Given the description of an element on the screen output the (x, y) to click on. 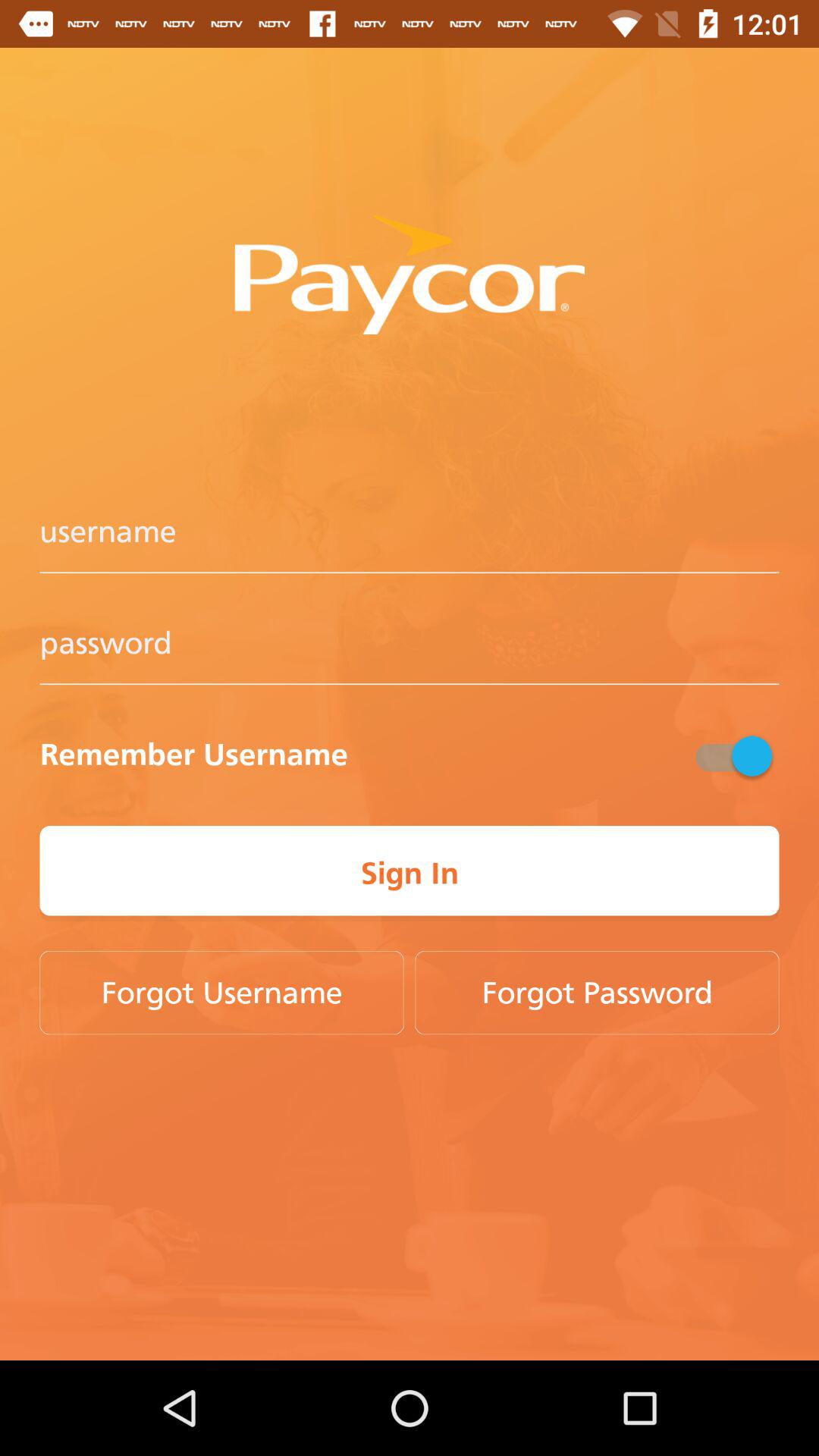
flip until the sign in button (409, 873)
